Given the description of an element on the screen output the (x, y) to click on. 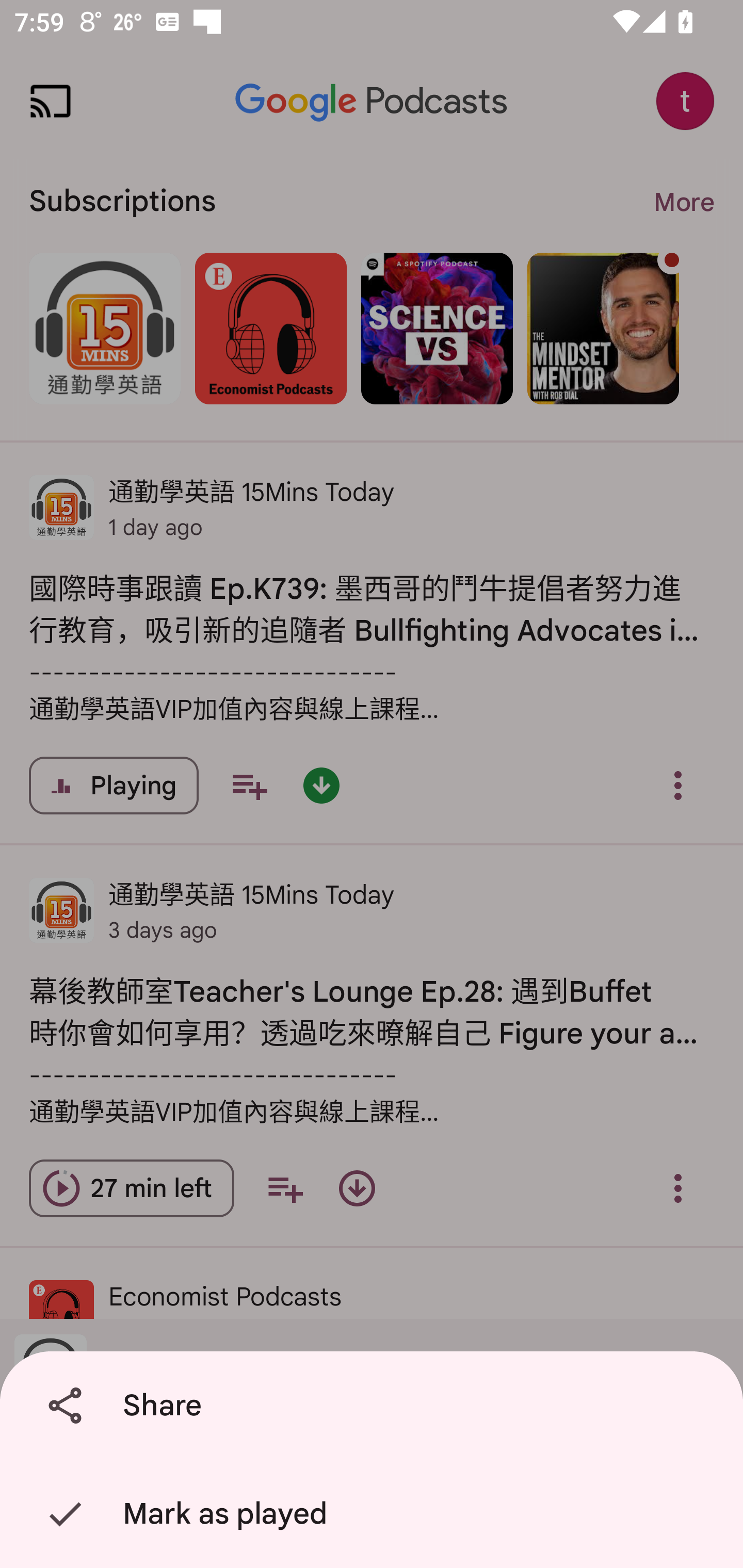
Share (375, 1405)
Mark as played (375, 1513)
